Given the description of an element on the screen output the (x, y) to click on. 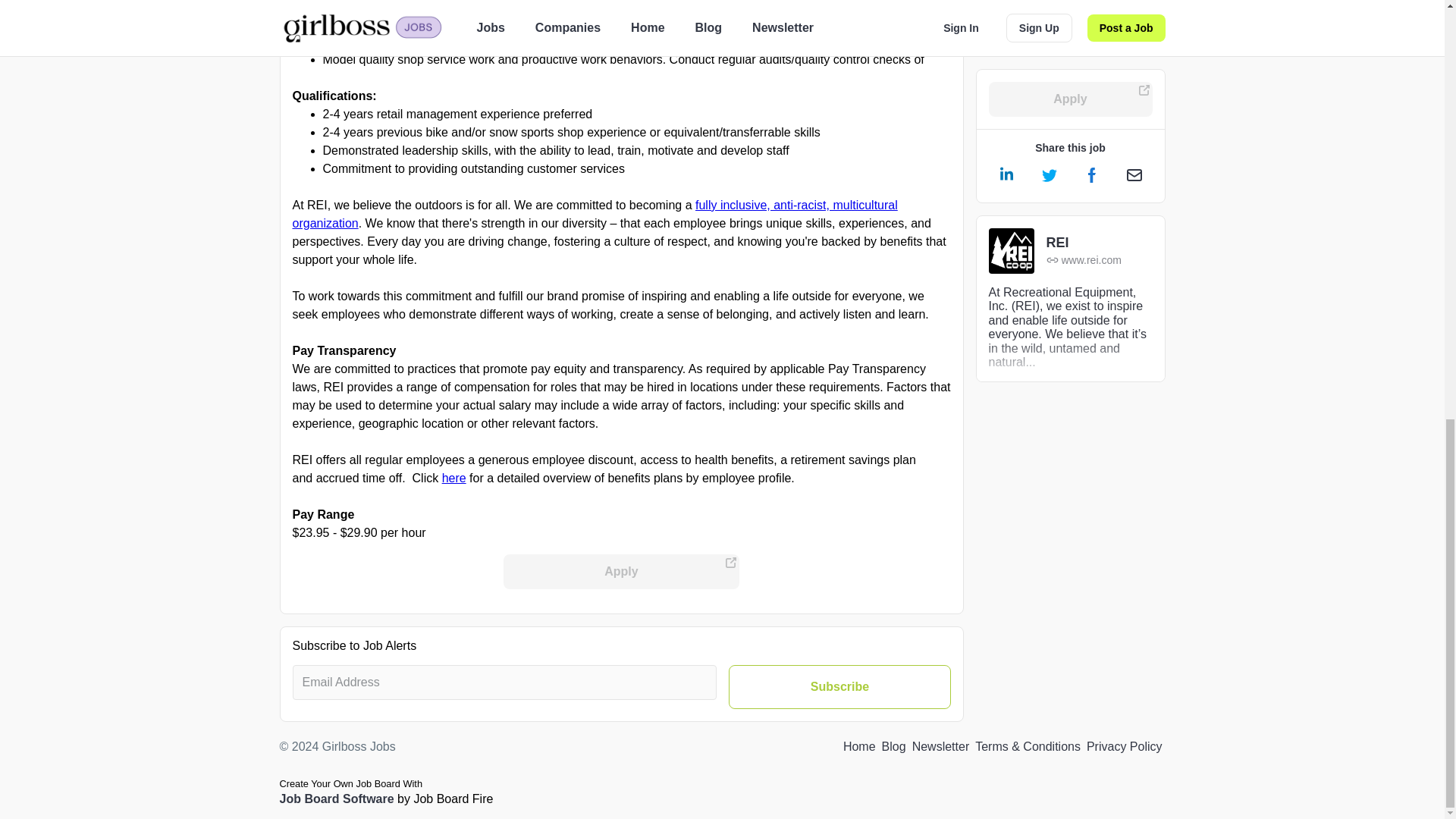
Job Board Software (336, 798)
here (453, 477)
fully inclusive, anti-racist, multicultural organization (595, 214)
Home (859, 746)
Job Board Software (336, 798)
Blog (893, 746)
Newsletter (940, 746)
Subscribe (839, 687)
Apply (621, 571)
Privacy Policy (1124, 746)
